Given the description of an element on the screen output the (x, y) to click on. 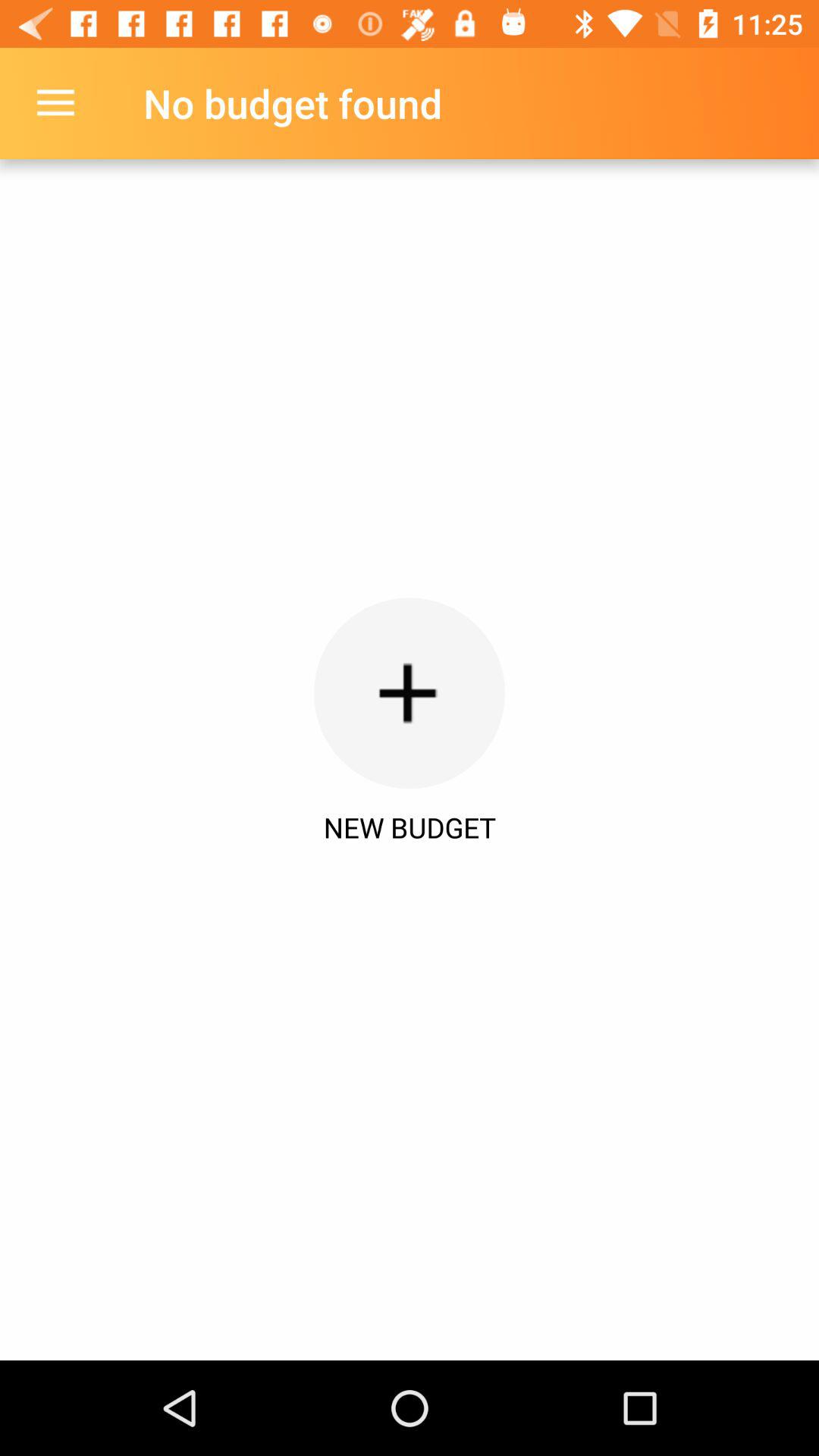
click the item below the no budget found (409, 692)
